Given the description of an element on the screen output the (x, y) to click on. 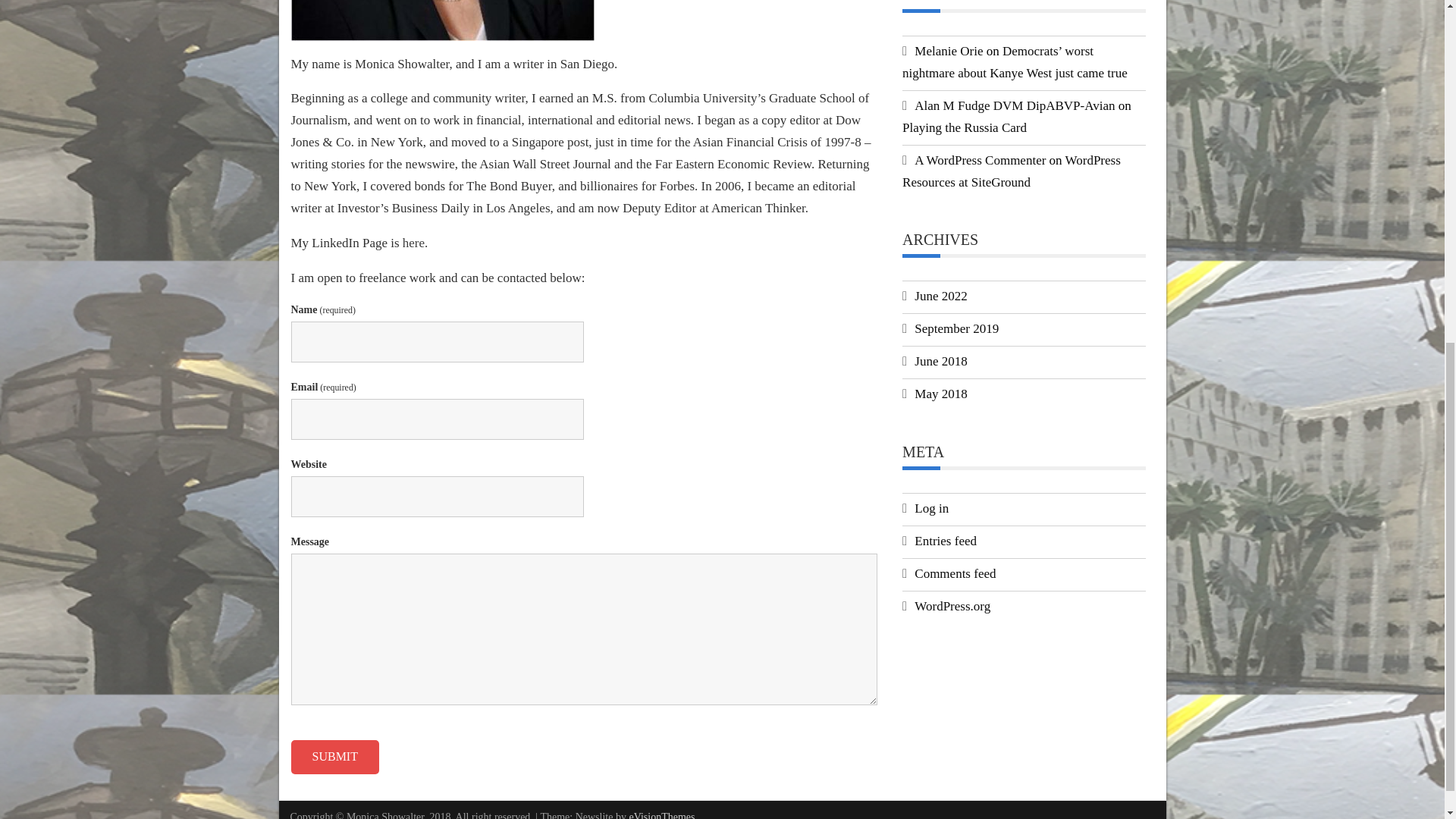
Melanie Orie (948, 51)
SUBMIT (334, 756)
here (414, 242)
